Given the description of an element on the screen output the (x, y) to click on. 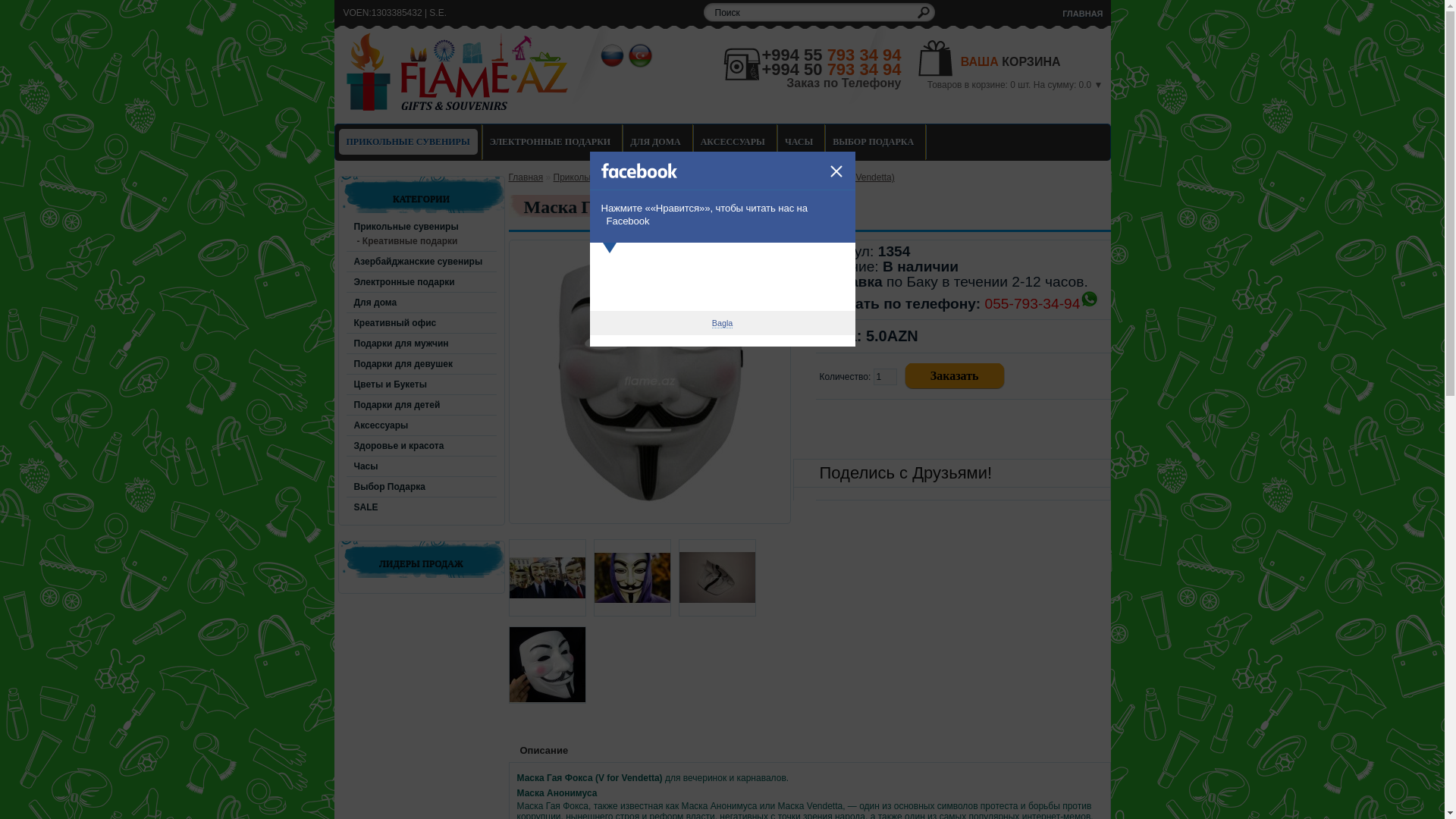
Azeri Element type: hover (639, 55)
+994 50 793 34 94 Element type: text (830, 68)
+994 55 793 34 94 Element type: text (830, 54)
Russian Element type: hover (611, 55)
whatsapp Element type: hover (1088, 298)
SALE Element type: text (361, 507)
INTERNET MAQAZIN BAKU - FLAME.AZ Element type: hover (457, 73)
